Given the description of an element on the screen output the (x, y) to click on. 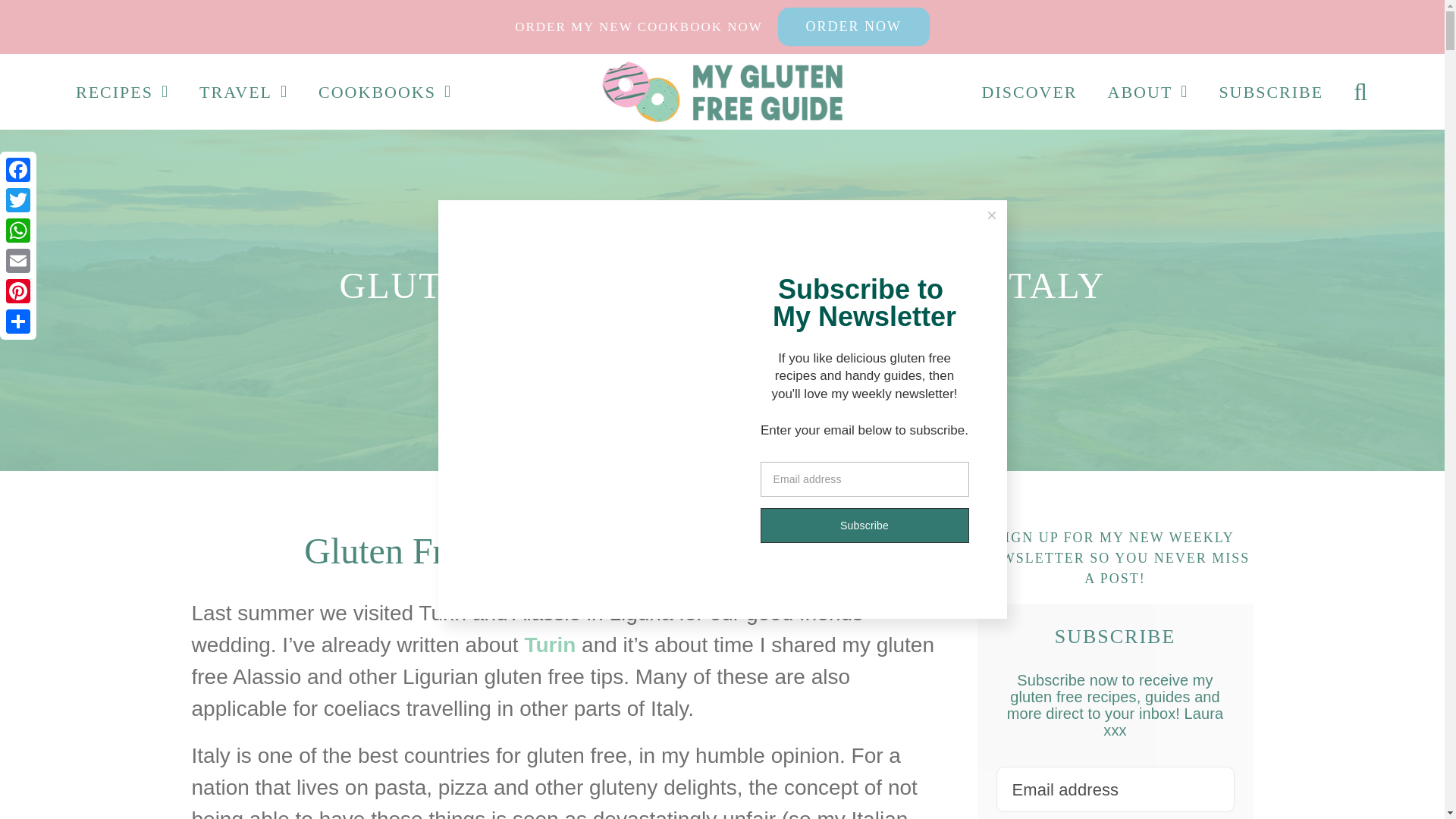
RECIPES (121, 91)
Pinterest (17, 291)
Facebook (17, 169)
Email (17, 260)
ORDER NOW (853, 26)
Twitter (17, 200)
WhatsApp (17, 230)
